Given the description of an element on the screen output the (x, y) to click on. 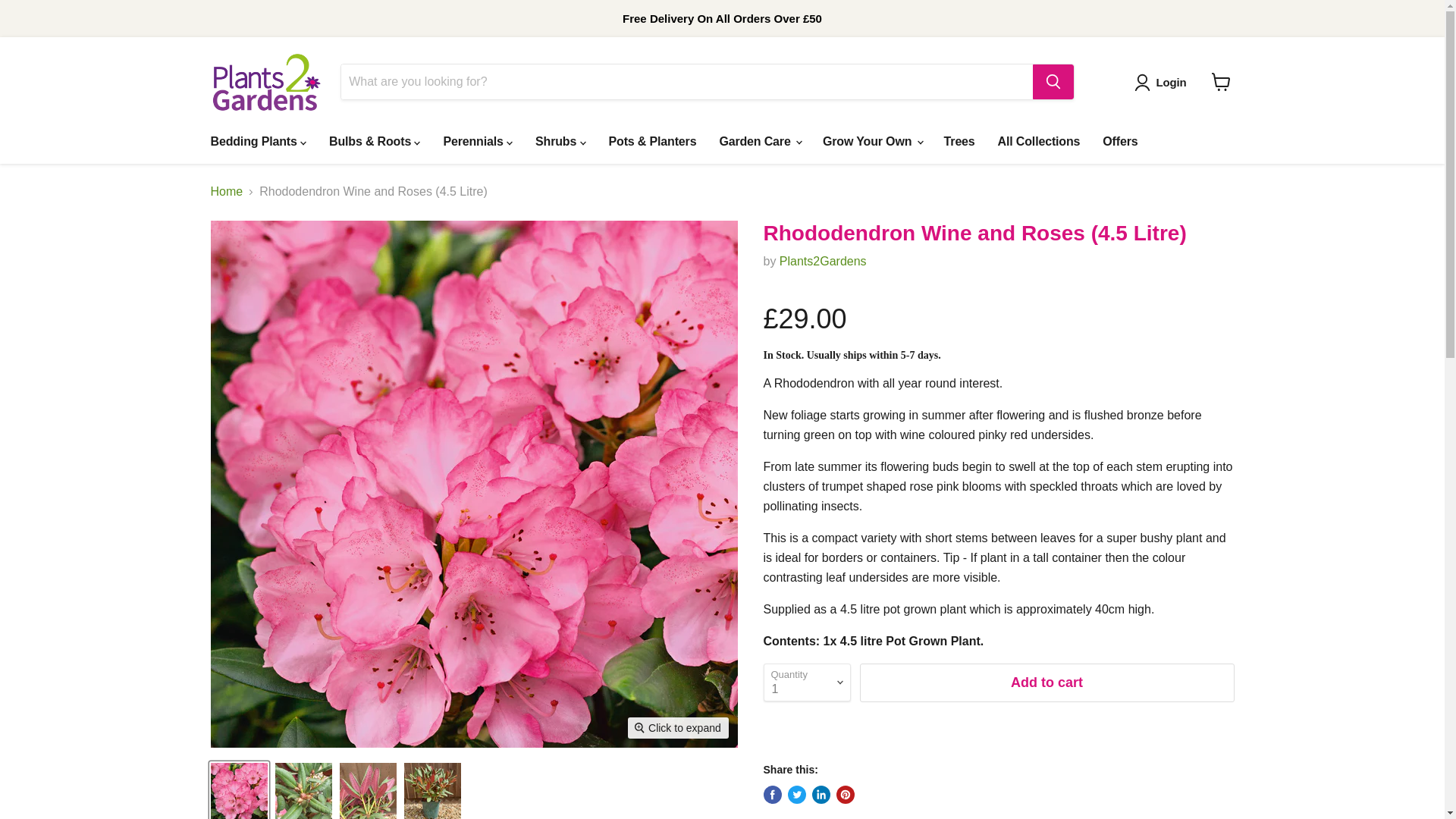
Plants2Gardens (822, 260)
Login (1171, 81)
View cart (1221, 81)
